Given the description of an element on the screen output the (x, y) to click on. 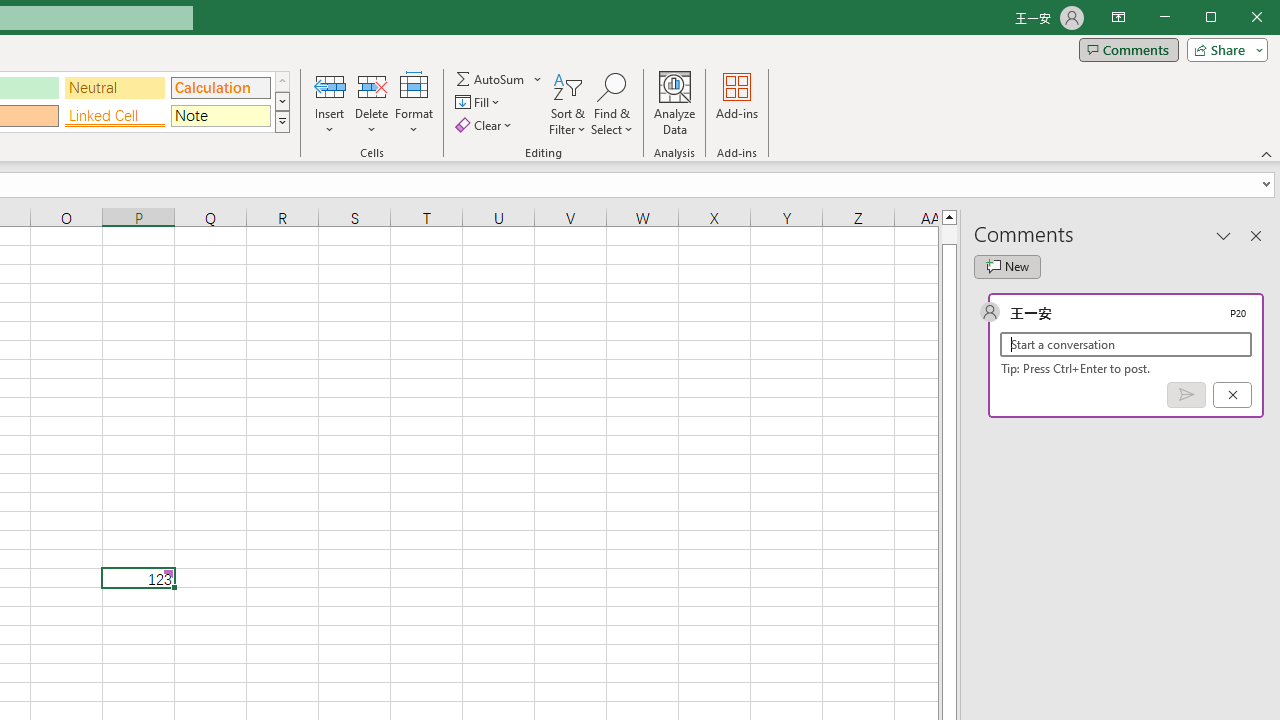
Fill (478, 101)
Cell Styles (282, 121)
Sort & Filter (567, 104)
Calculation (220, 88)
Cancel (1232, 395)
Note (220, 116)
New comment (1007, 266)
Start a conversation (1126, 344)
Maximize (1239, 18)
